Given the description of an element on the screen output the (x, y) to click on. 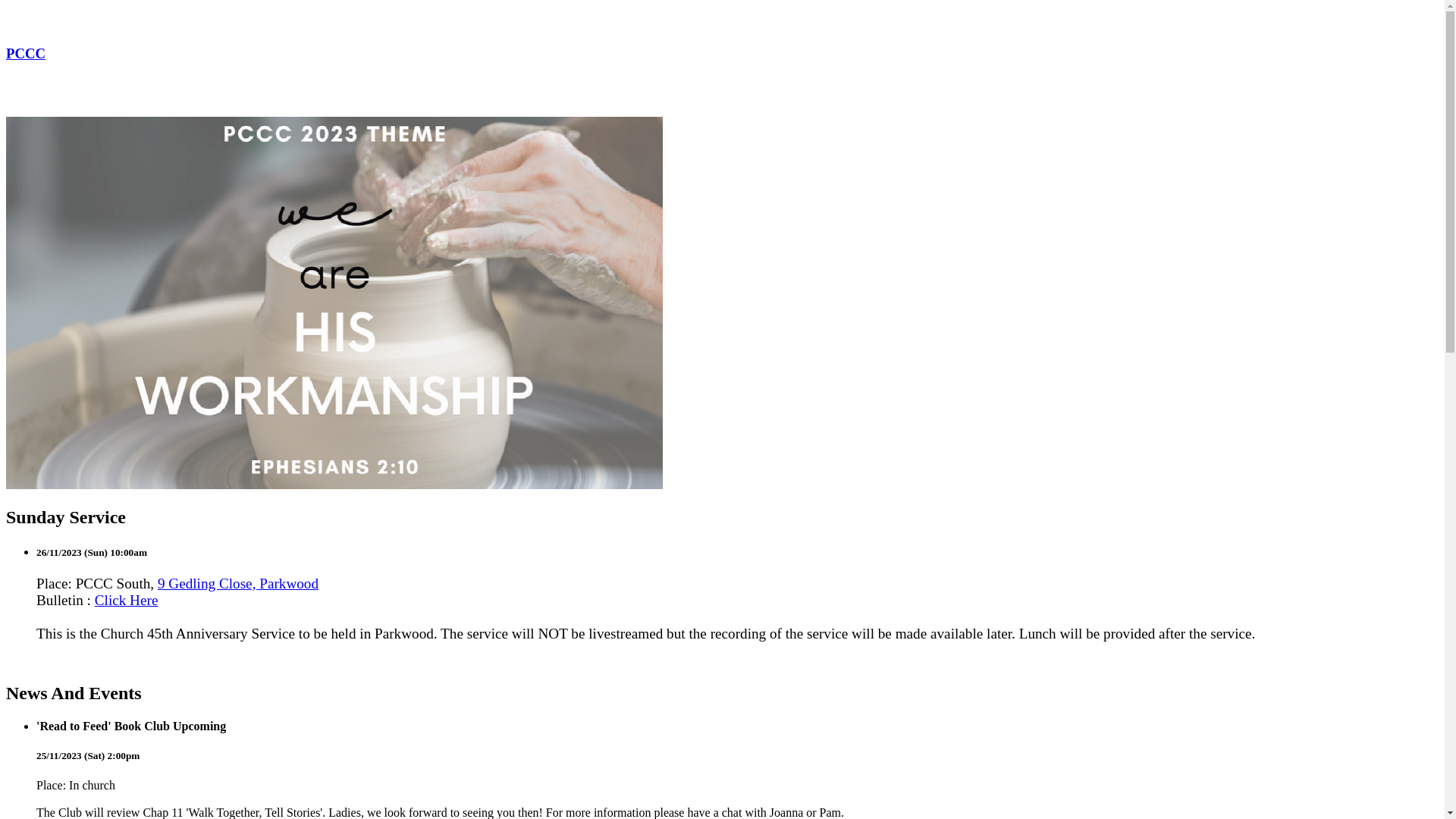
9 Gedling Close, Parkwood Element type: text (237, 583)
PCCC Element type: text (722, 39)
Click Here Element type: text (126, 600)
